Given the description of an element on the screen output the (x, y) to click on. 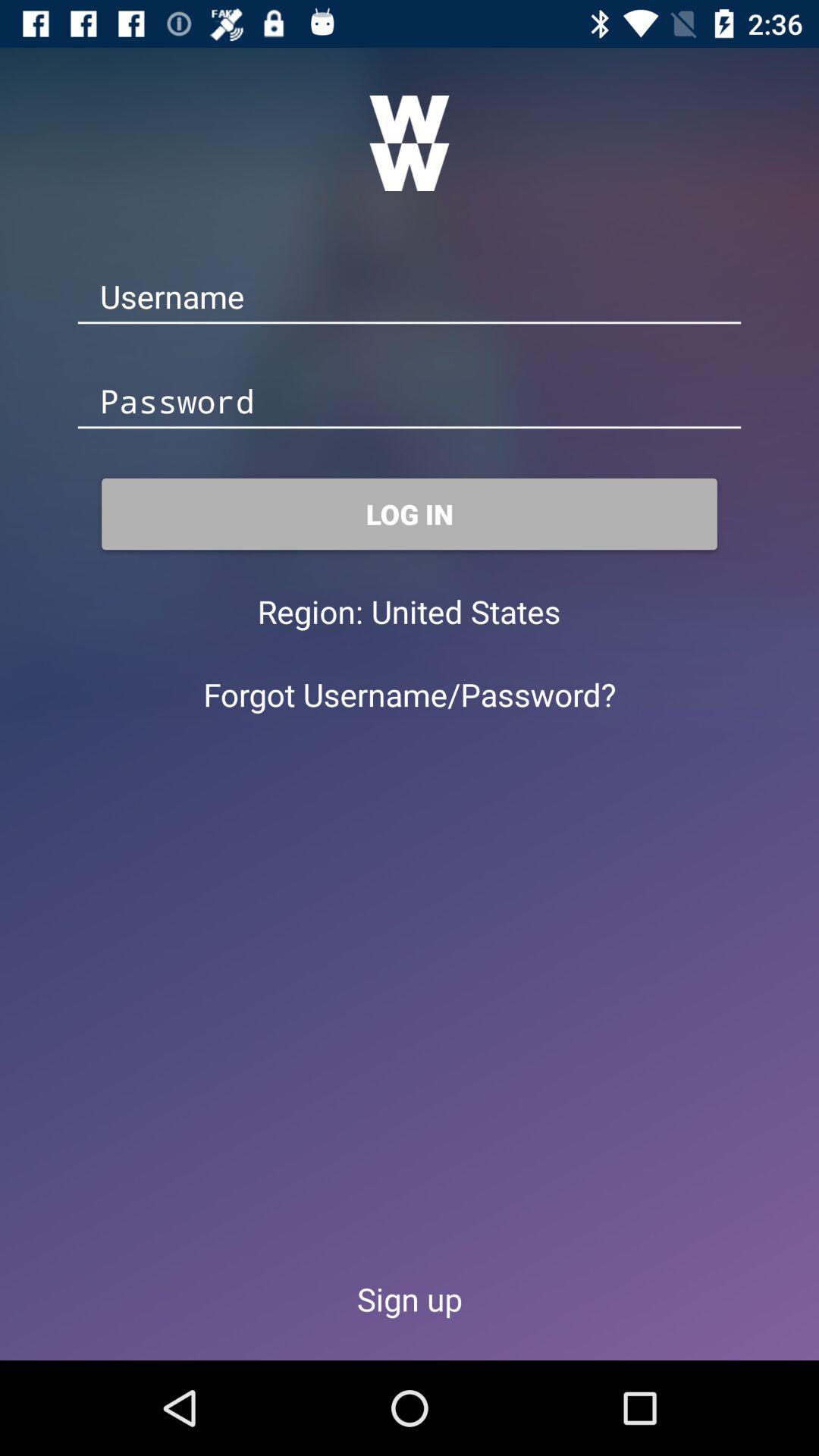
select the united states (465, 611)
